Given the description of an element on the screen output the (x, y) to click on. 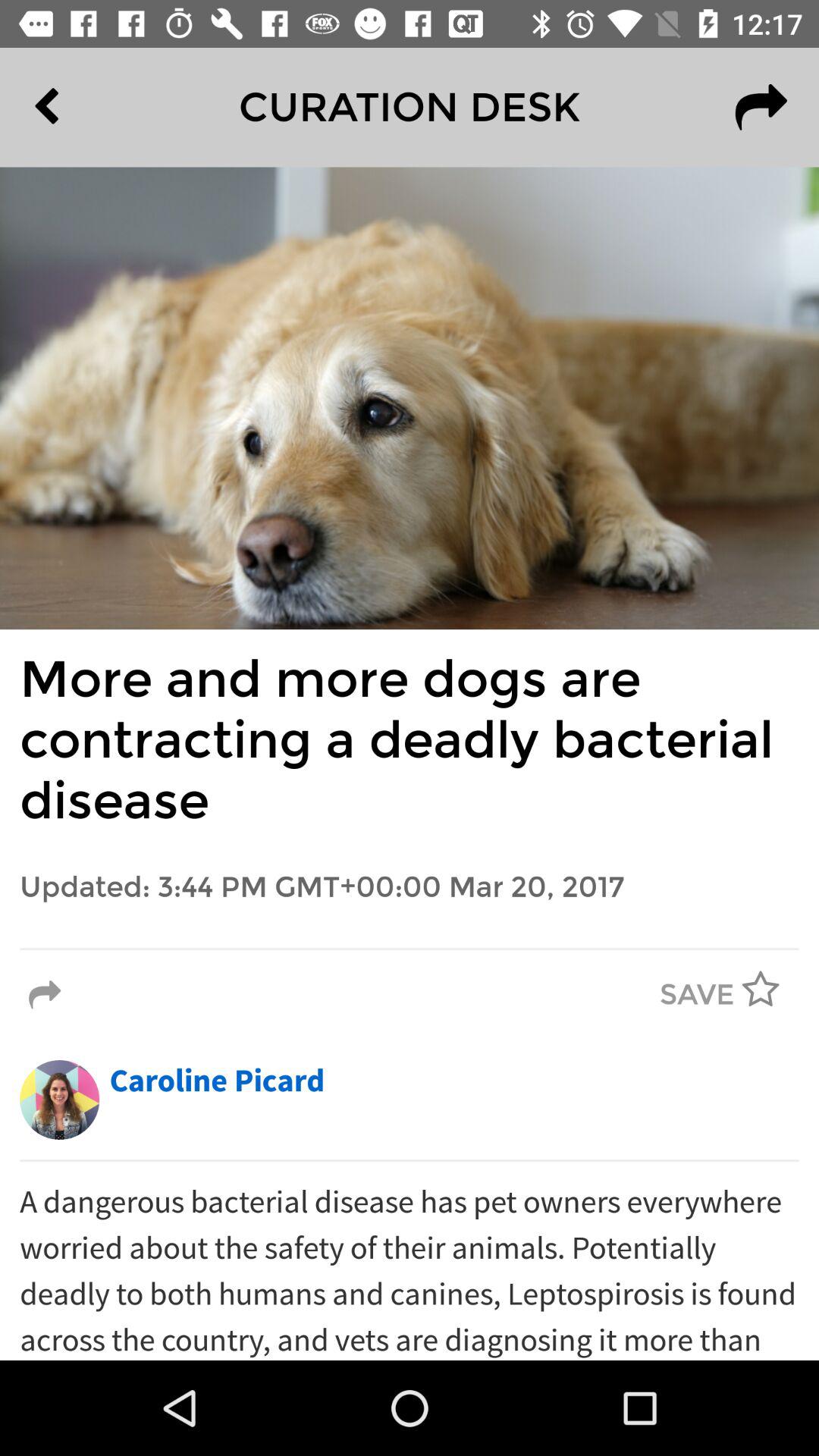
click the icon next to the curation desk item (761, 107)
